Given the description of an element on the screen output the (x, y) to click on. 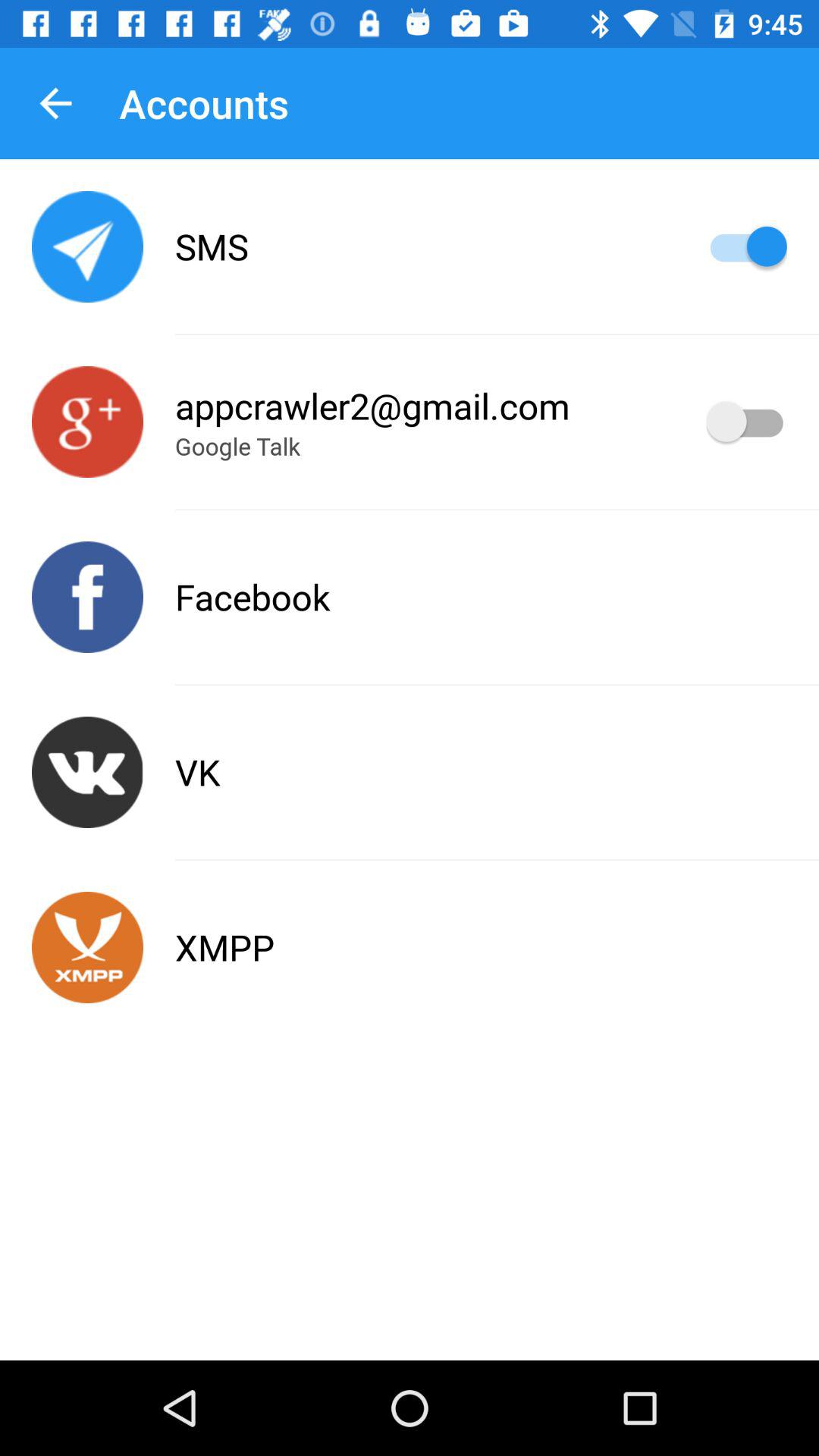
app icon (87, 947)
